Given the description of an element on the screen output the (x, y) to click on. 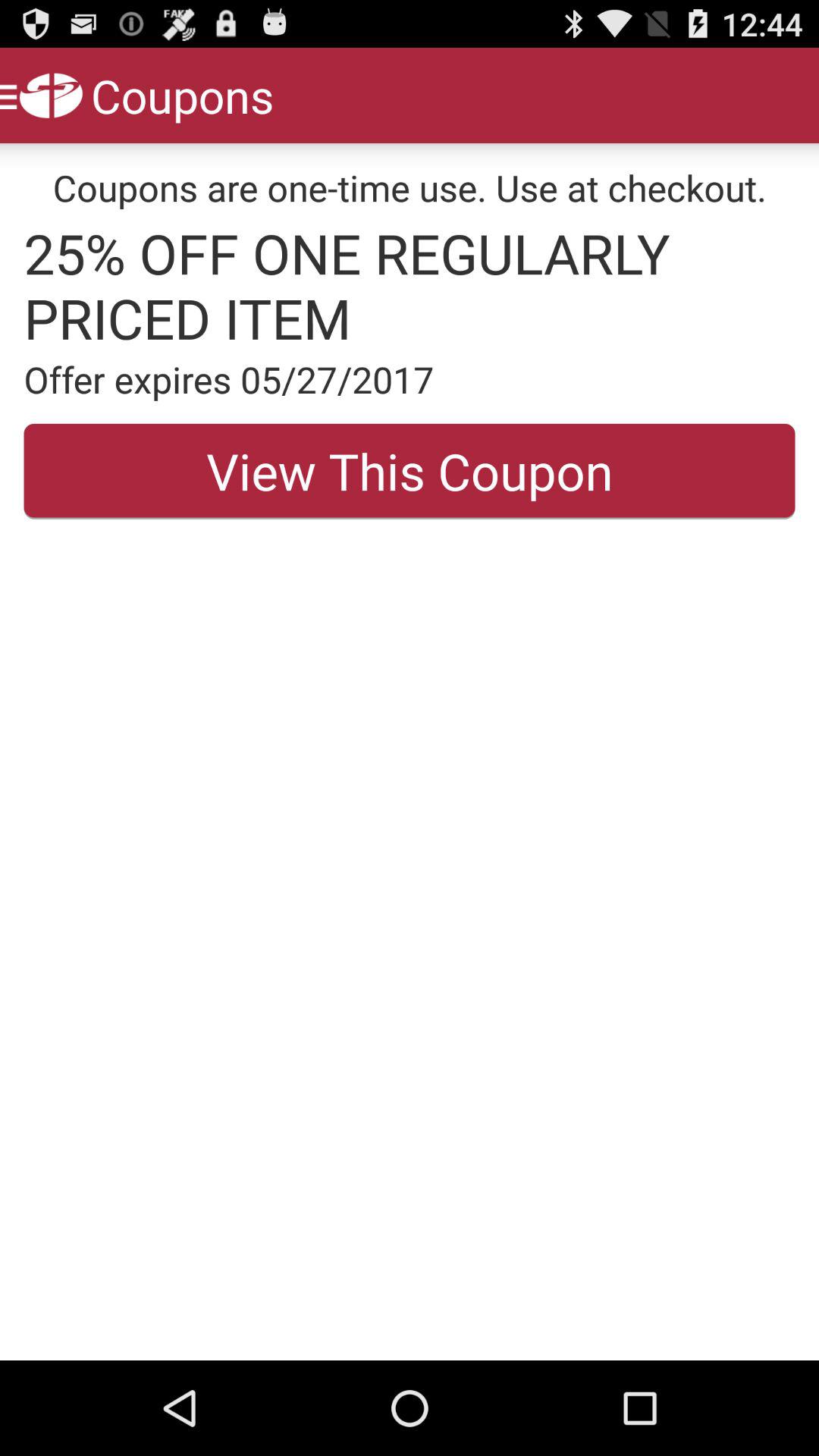
swipe until 25 off one item (409, 285)
